Given the description of an element on the screen output the (x, y) to click on. 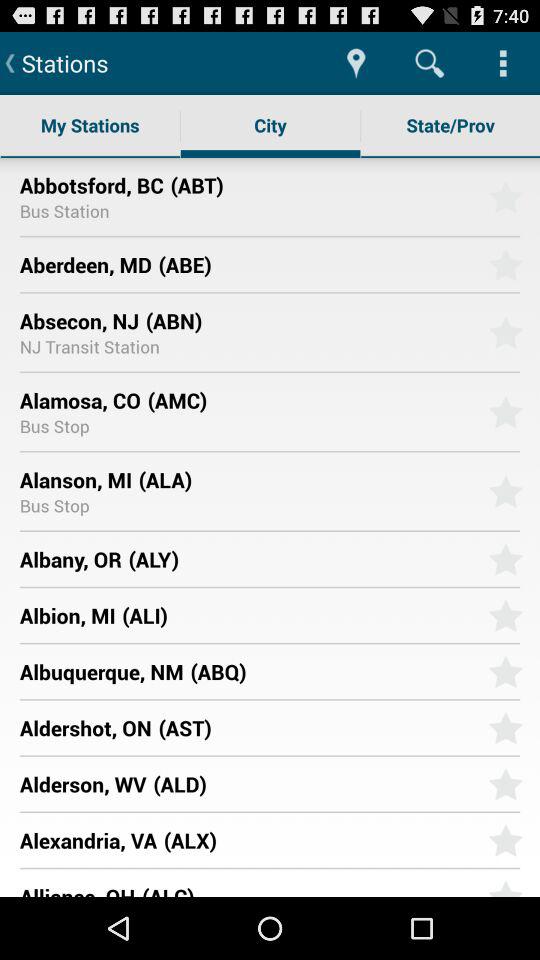
choose nj transit station item (89, 346)
